Given the description of an element on the screen output the (x, y) to click on. 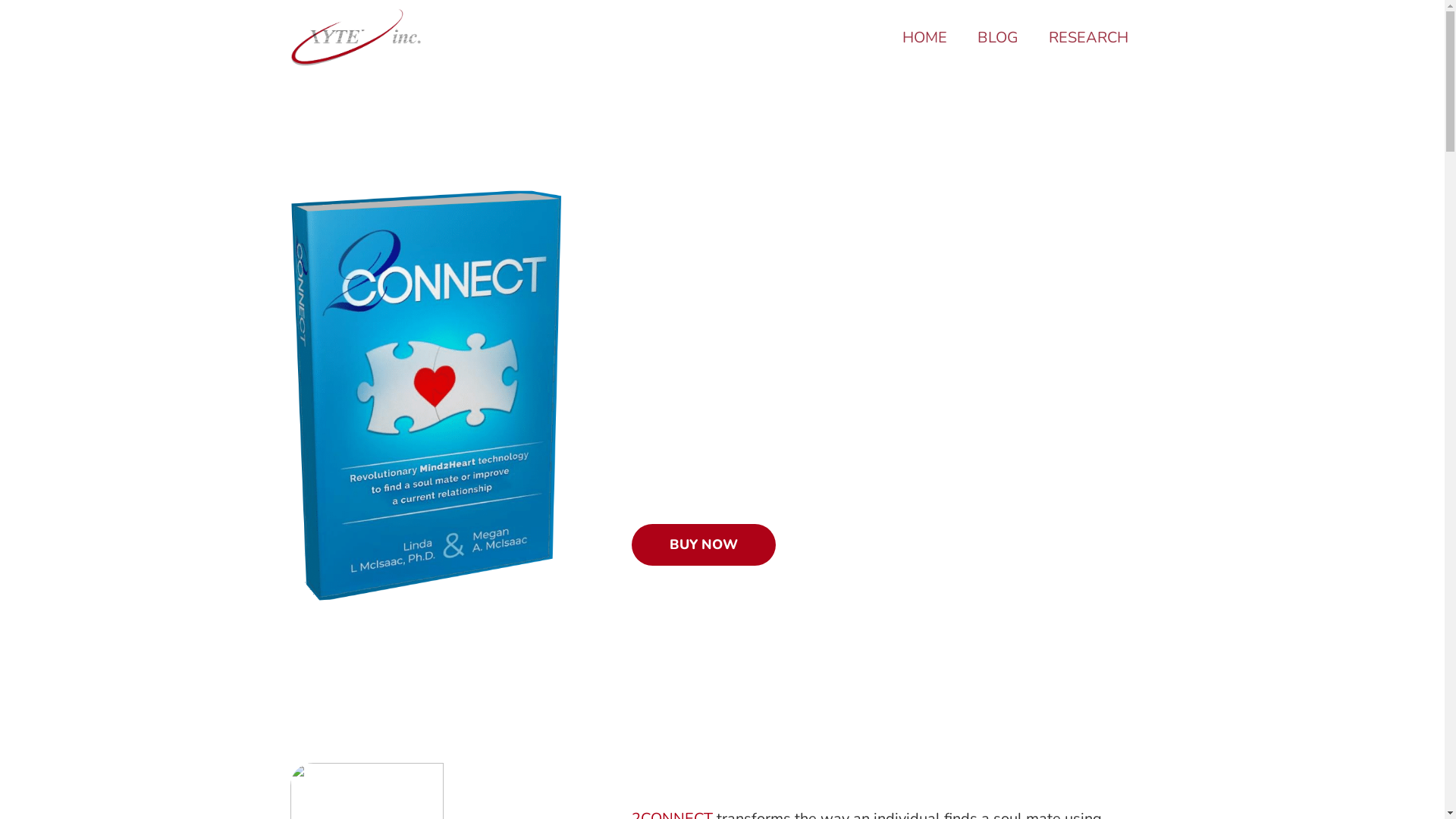
BUY NOW Element type: text (702, 545)
RESEARCH Element type: text (1087, 37)
HOME Element type: text (924, 37)
BLOG Element type: text (996, 37)
